Given the description of an element on the screen output the (x, y) to click on. 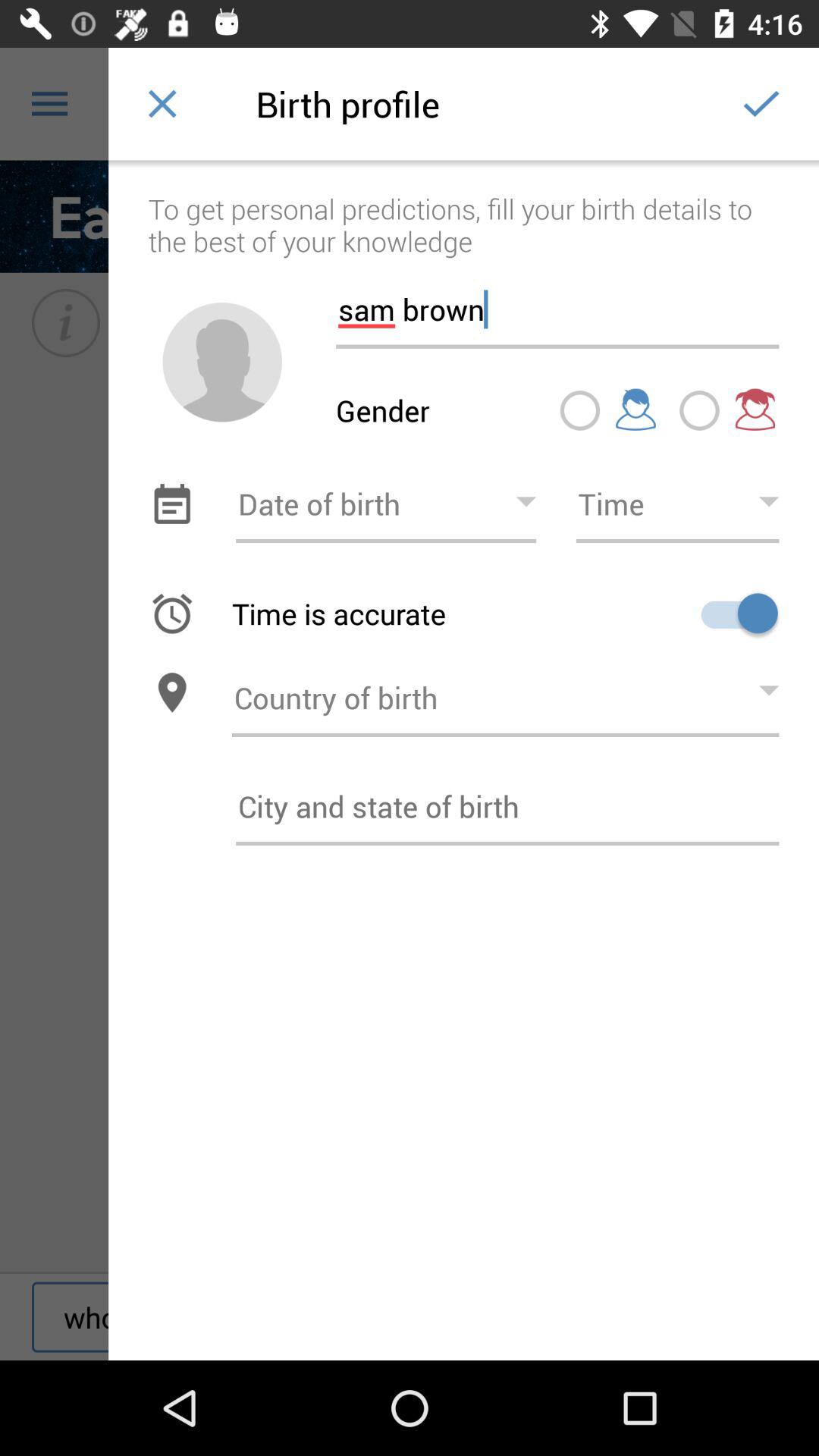
tap the icon below to get personal item (557, 303)
